Given the description of an element on the screen output the (x, y) to click on. 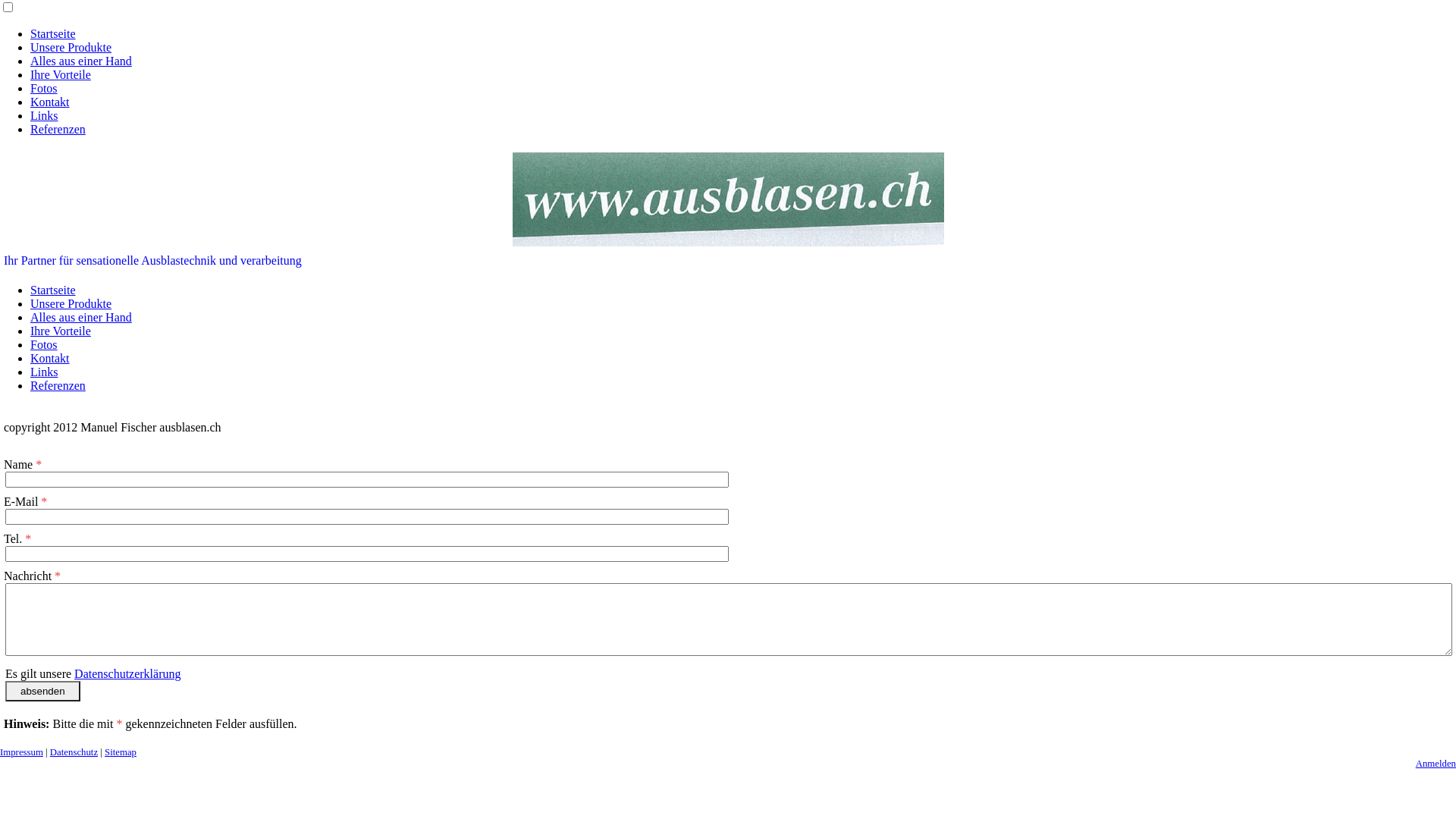
Unsere Produkte Element type: text (70, 46)
Startseite Element type: text (52, 33)
Impressum Element type: text (21, 751)
Fotos Element type: text (43, 344)
Ihre Vorteile Element type: text (60, 330)
Referenzen Element type: text (57, 385)
Sitemap Element type: text (120, 751)
Alles aus einer Hand Element type: text (80, 316)
Alles aus einer Hand Element type: text (80, 60)
Referenzen Element type: text (57, 128)
Ihre Vorteile Element type: text (60, 74)
Links Element type: text (43, 115)
Links Element type: text (43, 371)
Kontakt Element type: text (49, 101)
absenden Element type: text (42, 690)
Kontakt Element type: text (49, 357)
Fotos Element type: text (43, 87)
Startseite Element type: text (52, 289)
Unsere Produkte Element type: text (70, 303)
Datenschutz Element type: text (73, 751)
